Given the description of an element on the screen output the (x, y) to click on. 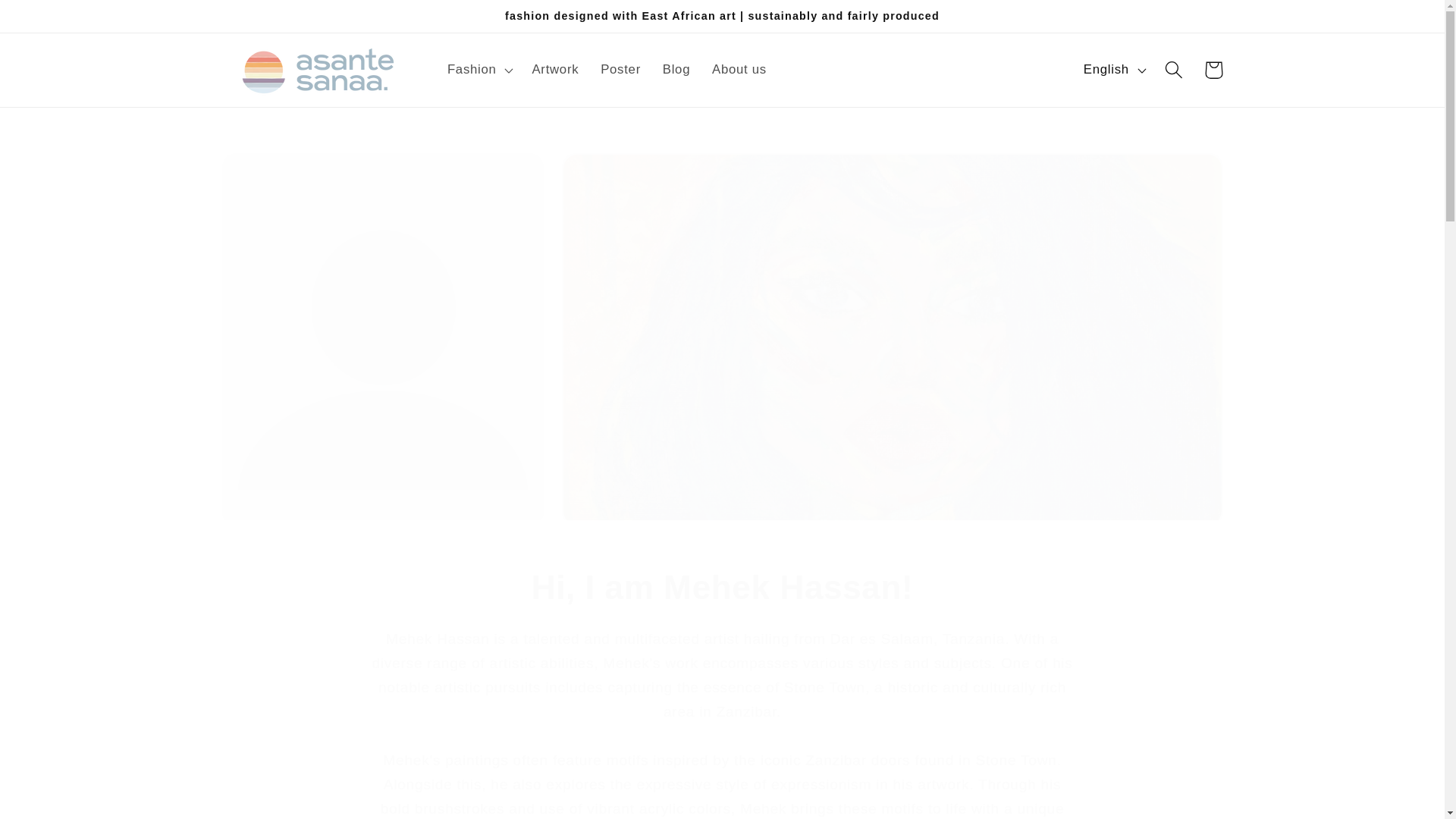
Blog (675, 69)
English (1112, 69)
Cart (1213, 69)
Skip to content (55, 20)
Hi, I am Mehek Hassan! (721, 587)
About us (739, 69)
Poster (620, 69)
Artwork (555, 69)
